Given the description of an element on the screen output the (x, y) to click on. 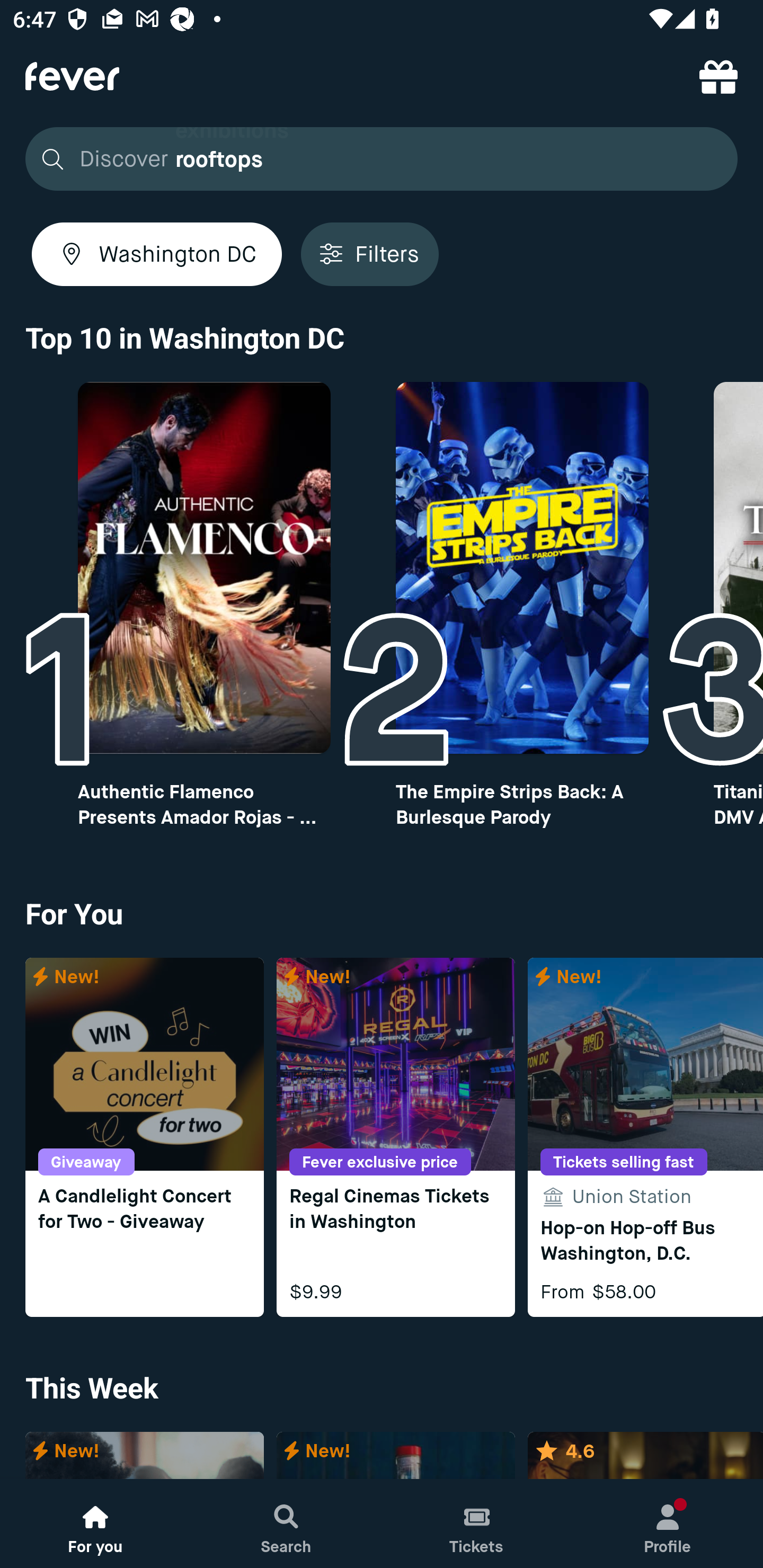
referral (718, 75)
Discover exhibitions rooftops (381, 158)
Discover exhibitions rooftops (376, 158)
Washington DC (156, 253)
Filters (369, 253)
Top10 image (203, 568)
Top10 image (521, 568)
Search (285, 1523)
Tickets (476, 1523)
Profile, New notification Profile (667, 1523)
